Given the description of an element on the screen output the (x, y) to click on. 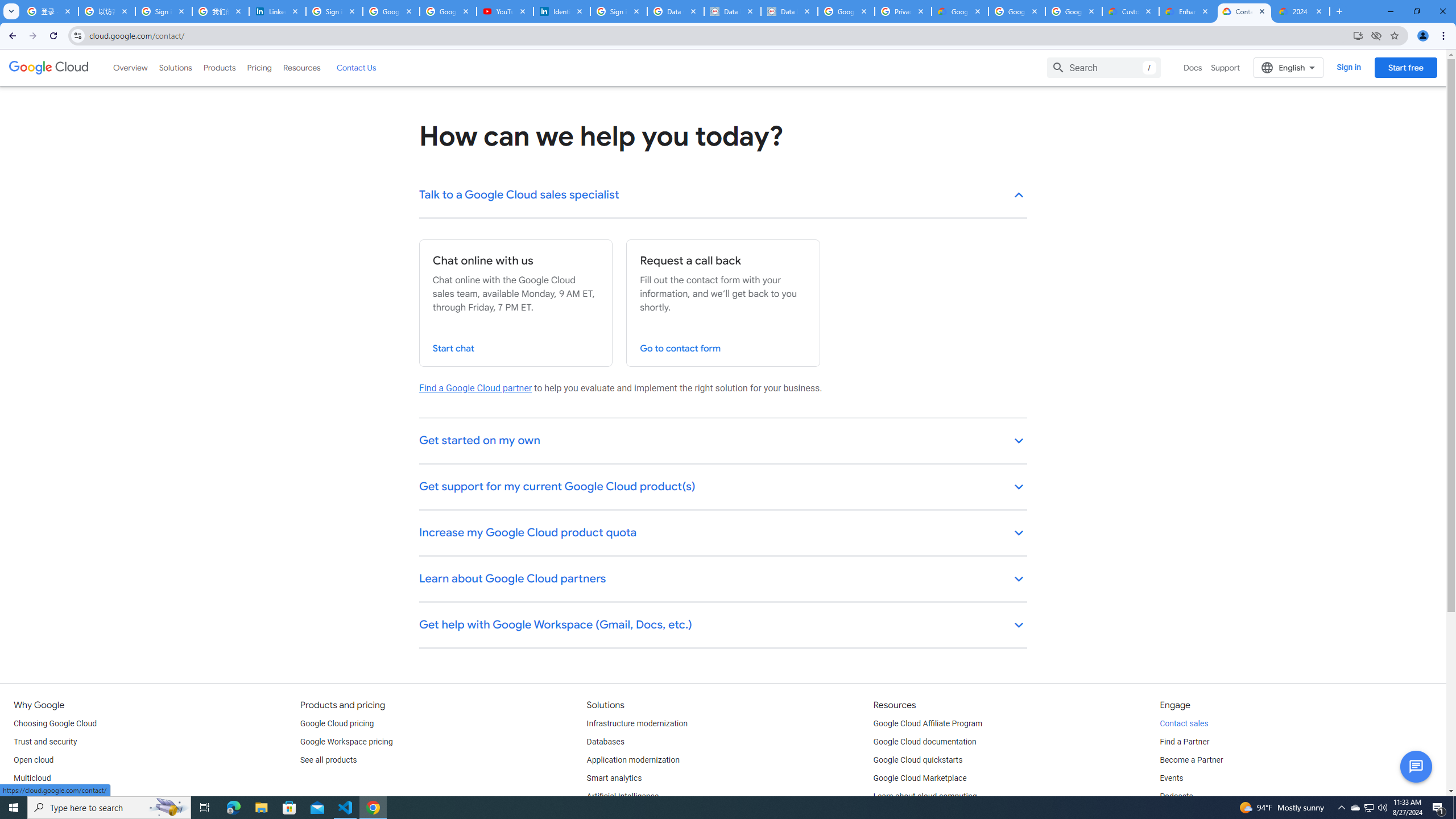
Podcasts (1175, 796)
Support (1225, 67)
Databases (605, 742)
Get started on my own keyboard_arrow_down (723, 441)
Artificial Intelligence (622, 796)
